Given the description of an element on the screen output the (x, y) to click on. 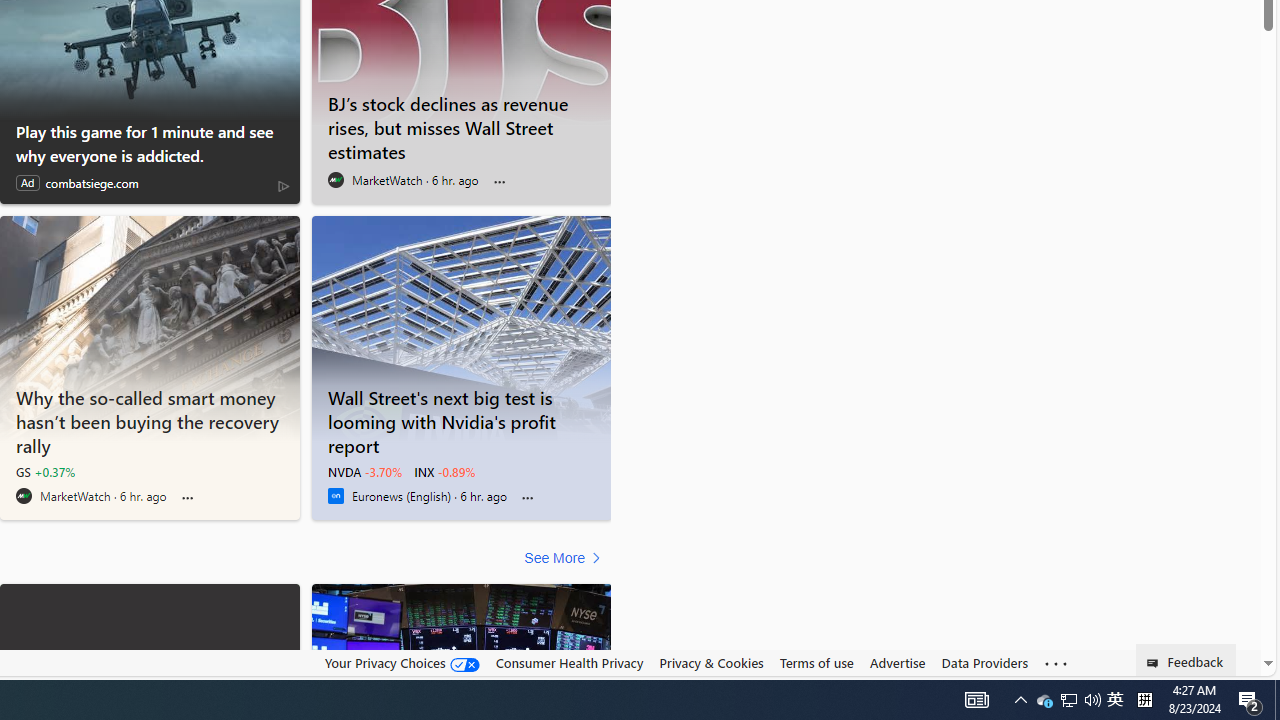
MarketWatch (23, 495)
NVDA -3.70% (363, 471)
AdChoices (283, 186)
